Given the description of an element on the screen output the (x, y) to click on. 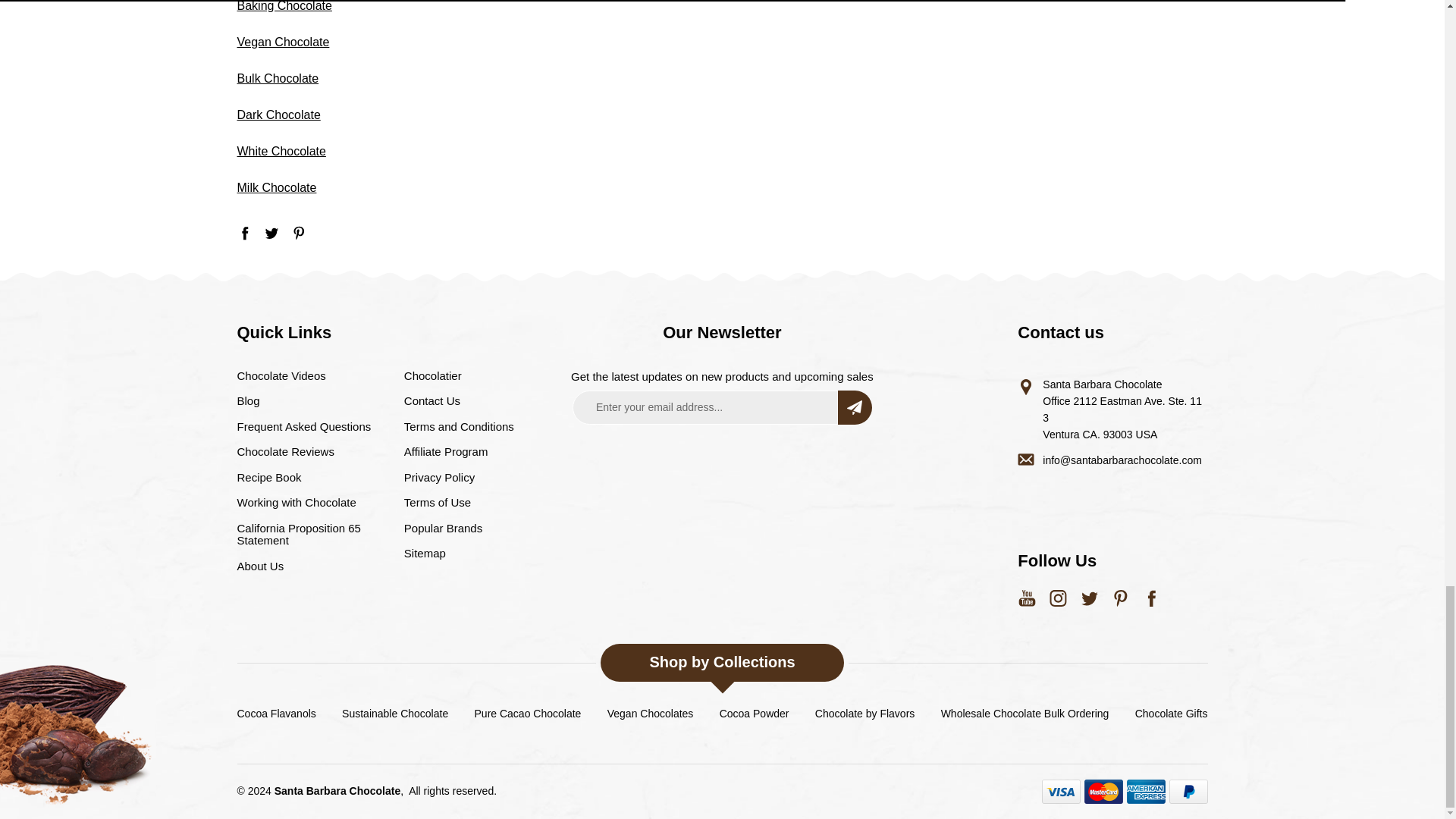
Twitter (271, 232)
Subscribe (855, 407)
Facebook (243, 232)
Pinterest (298, 232)
